Given the description of an element on the screen output the (x, y) to click on. 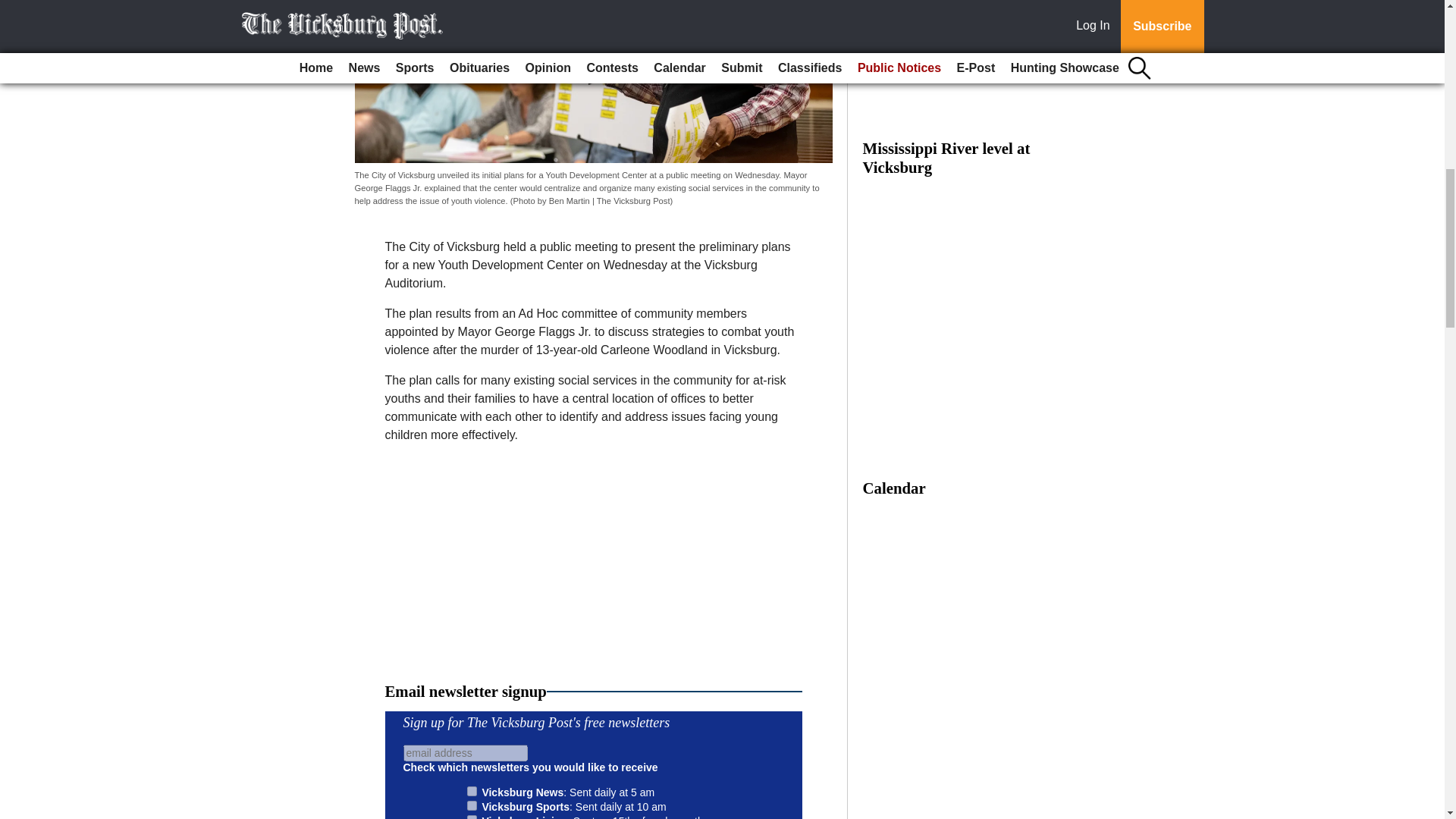
1 (472, 791)
2 (472, 805)
